Given the description of an element on the screen output the (x, y) to click on. 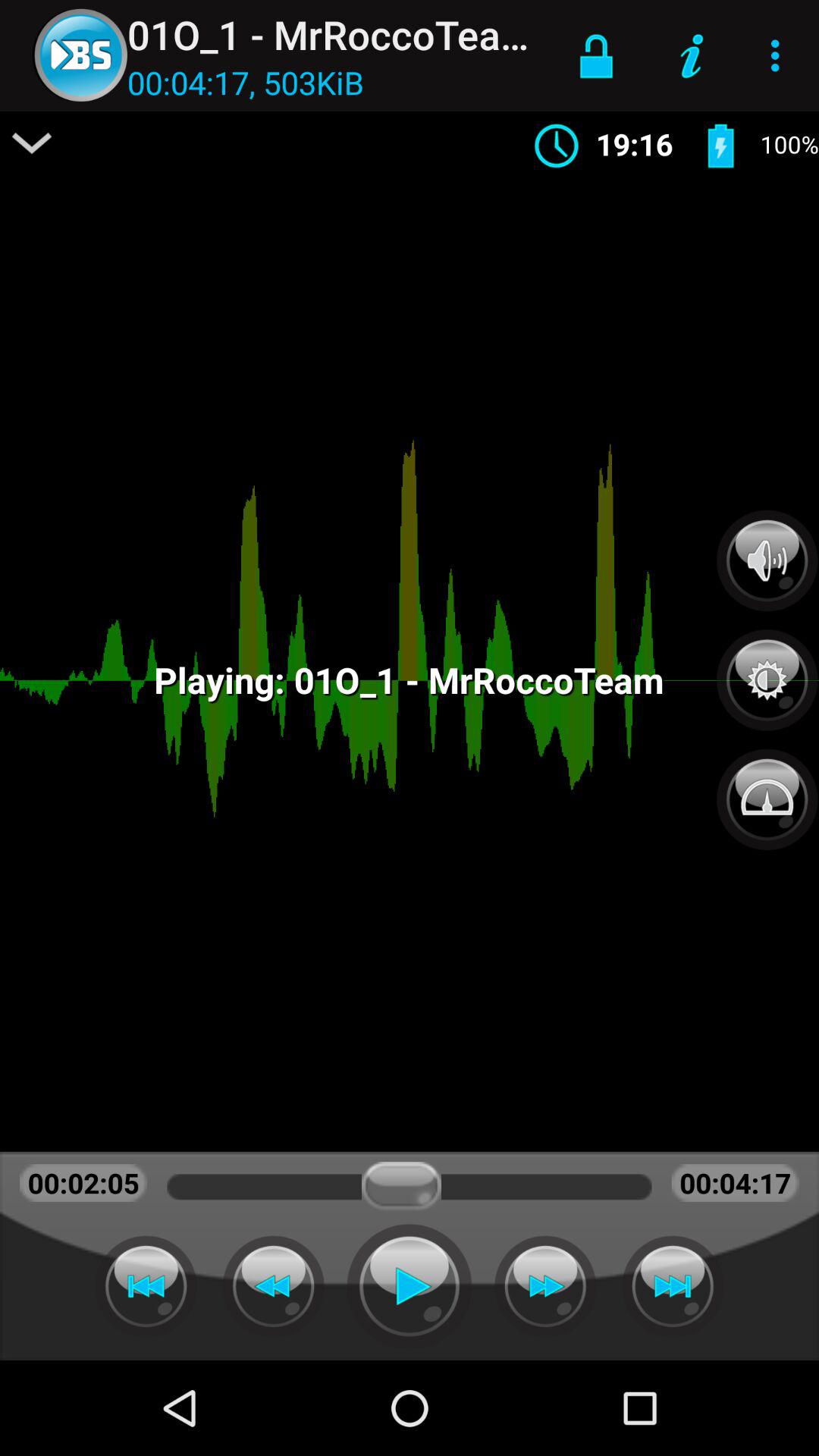
forword button (672, 1286)
